Given the description of an element on the screen output the (x, y) to click on. 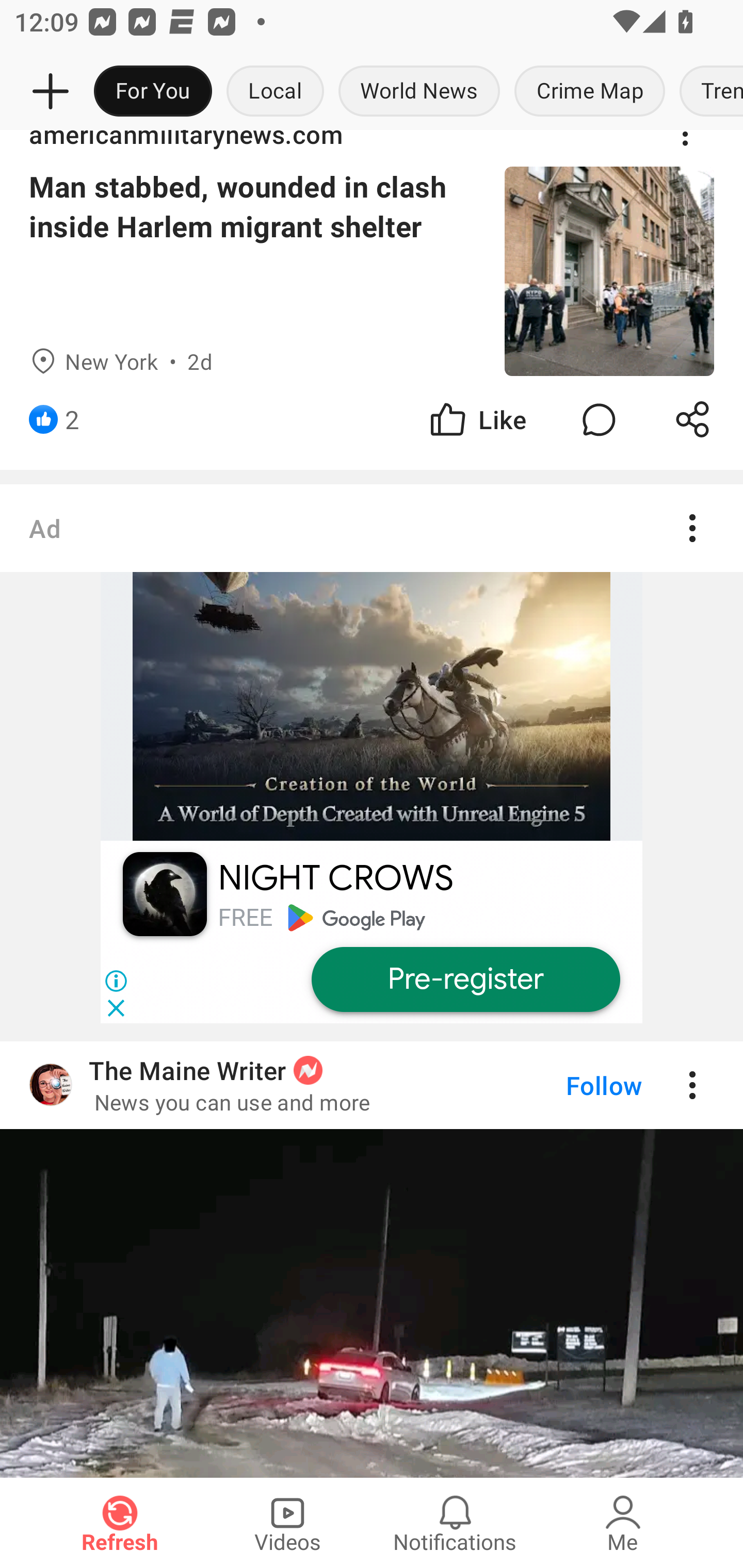
For You (152, 91)
Local (275, 91)
World News (419, 91)
Crime Map (589, 91)
2 (72, 419)
Like (476, 419)
NIGHT CROWS (335, 877)
FREE (245, 916)
Pre-register (464, 979)
The Maine Writer  News you can use and more Follow (371, 1259)
The Maine Writer  News you can use and more Follow (371, 1084)
Follow (569, 1084)
Videos (287, 1522)
Notifications (455, 1522)
Me (622, 1522)
